Given the description of an element on the screen output the (x, y) to click on. 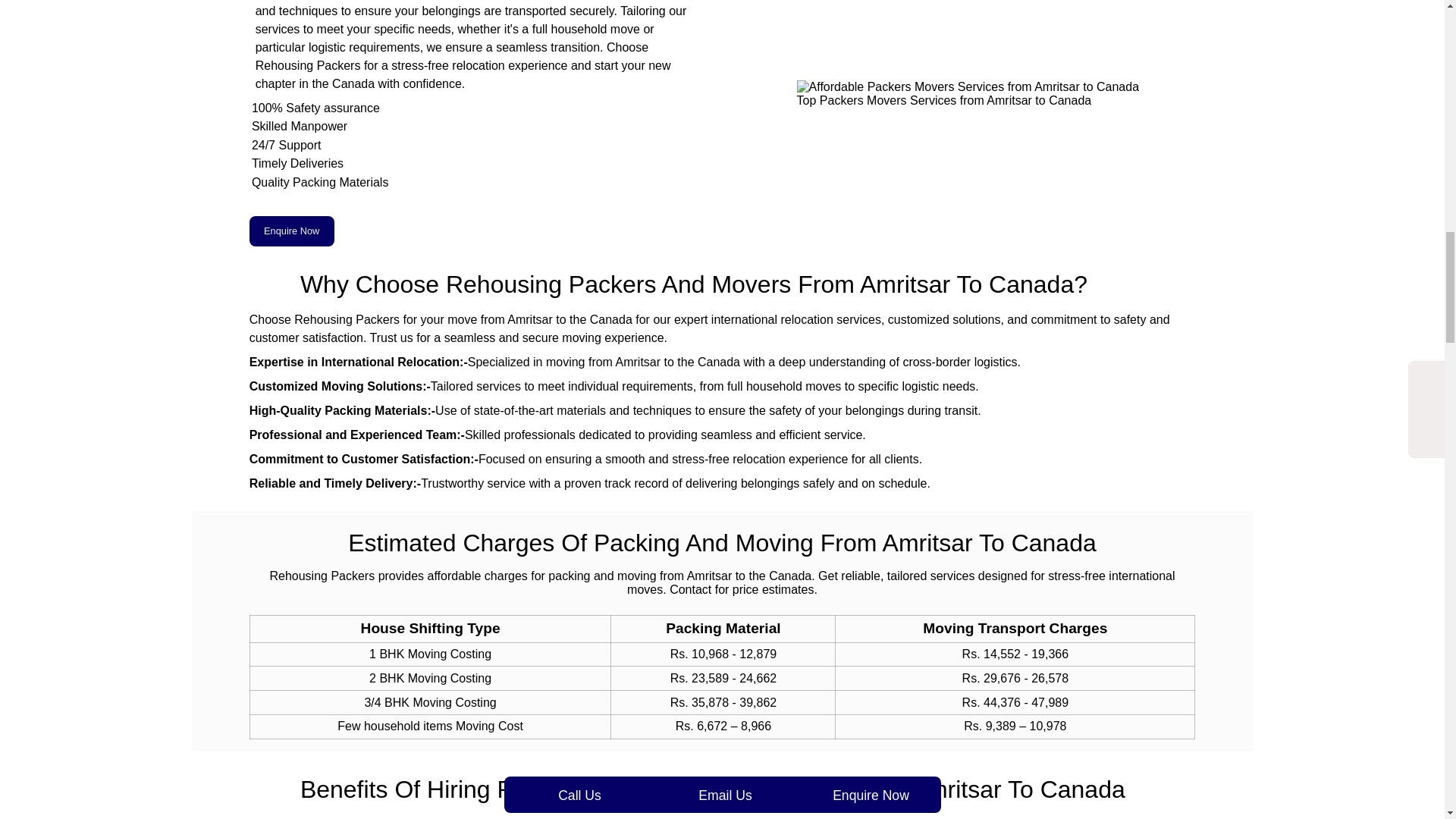
Affordable Packers Movers Services from Amritsar to Canada (967, 87)
